Given the description of an element on the screen output the (x, y) to click on. 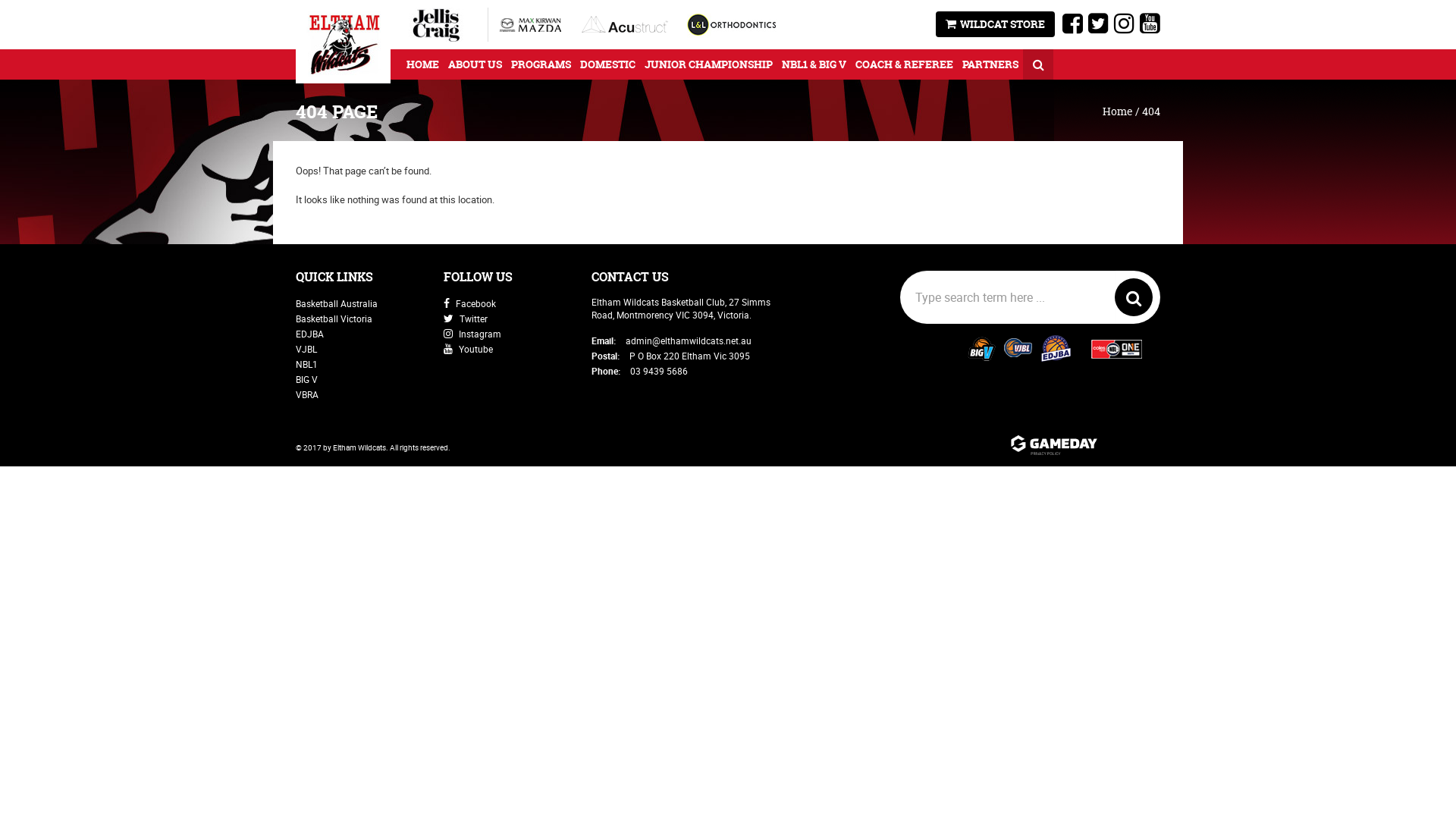
Home Element type: text (1117, 110)
Facebook Element type: text (469, 303)
Instagram Element type: text (472, 333)
ABOUT US Element type: text (474, 64)
Basketball Victoria Element type: text (333, 318)
Basketball Australia Element type: text (336, 303)
EDJBA Element type: text (309, 333)
Twitter Element type: text (465, 318)
VBRA Element type: text (306, 394)
SportsTG Privacy Policy Element type: hover (1084, 456)
PARTNERS Element type: text (989, 64)
JUNIOR CHAMPIONSHIP Element type: text (708, 64)
Youtube Element type: text (467, 348)
COACH & REFEREE Element type: text (903, 64)
Email: admin@elthamwildcats.net.au Element type: text (671, 340)
WILDCAT STORE Element type: text (994, 24)
HOME Element type: text (422, 64)
VJBL Element type: text (305, 348)
Powered by SportsTG Element type: hover (1084, 446)
Phone: 03 9439 5686 Element type: text (639, 370)
Postal: P O Box 220 Eltham Vic 3095 Element type: text (670, 355)
DOMESTIC Element type: text (607, 64)
NBL1 & BIG V Element type: text (813, 64)
PROGRAMS Element type: text (540, 64)
NBL1 Element type: text (306, 363)
BIG V Element type: text (306, 379)
